Given the description of an element on the screen output the (x, y) to click on. 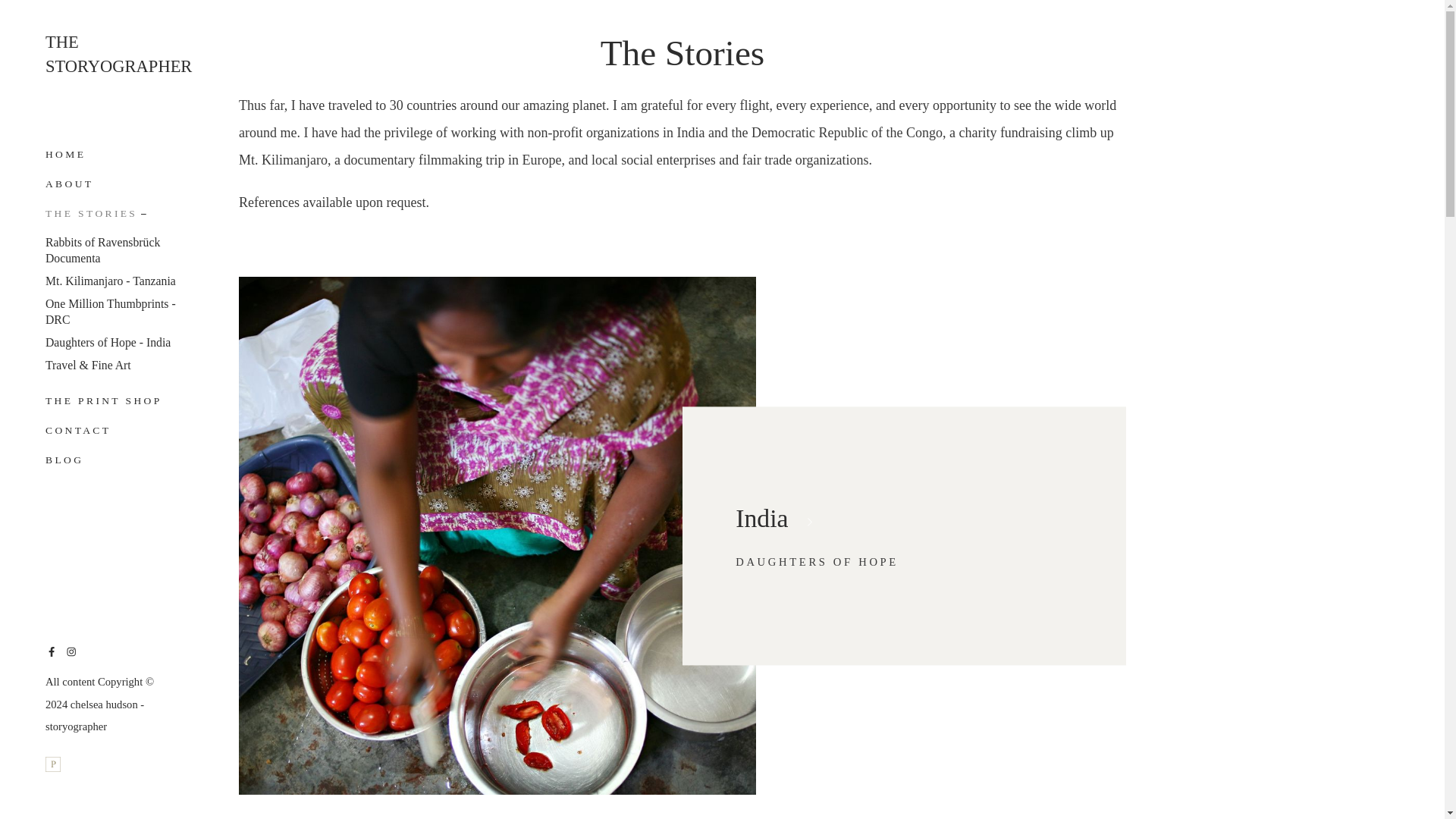
CONTACT (118, 53)
One Million Thumbprints - DRC (77, 429)
Mt. Kilimanjaro - Tanzania (113, 311)
Daughters of Hope - India (110, 281)
HOME (107, 342)
THE PRINT SHOP (65, 157)
ABOUT (103, 400)
THE STORIES (69, 183)
